Given the description of an element on the screen output the (x, y) to click on. 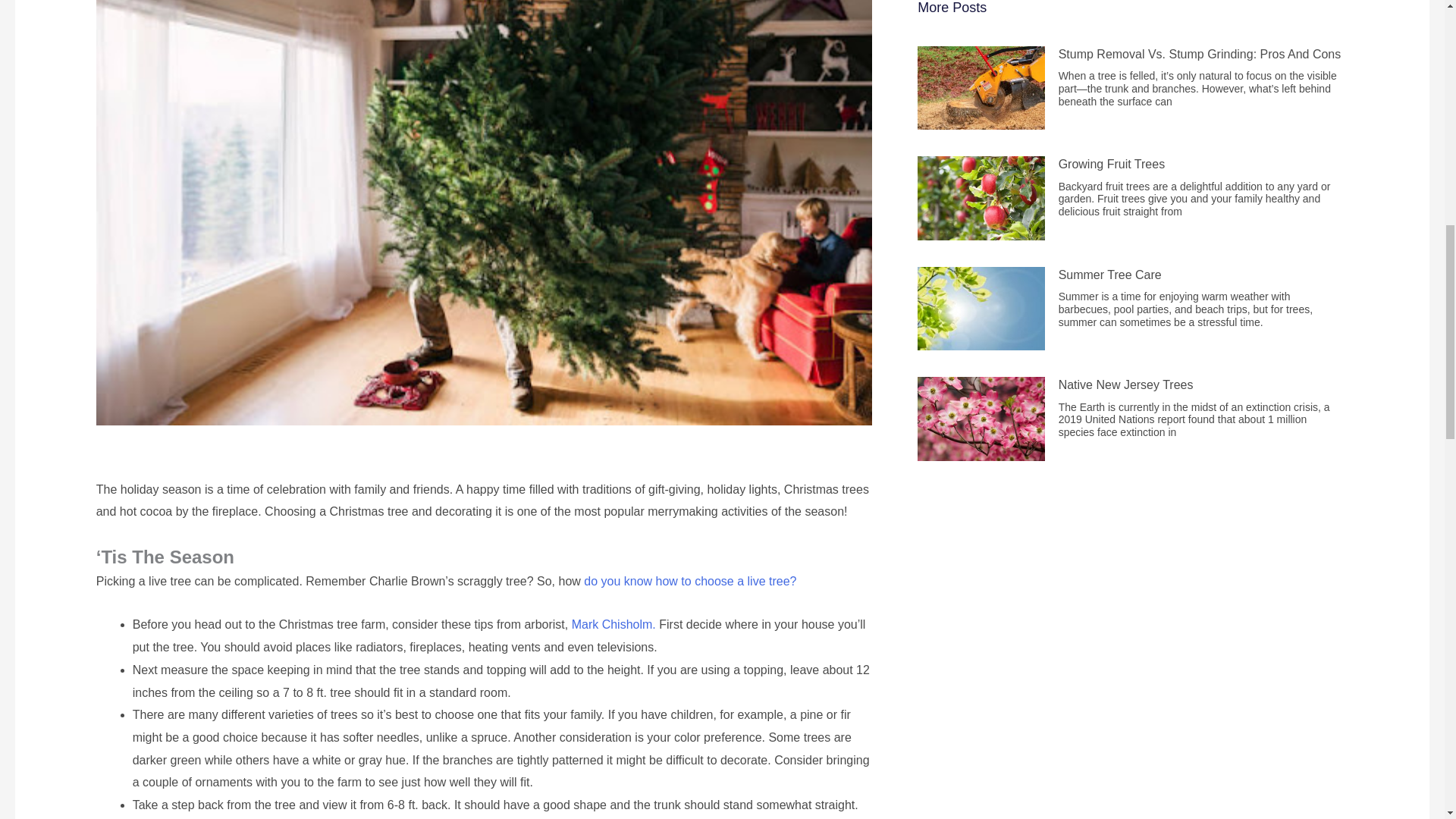
Stump Removal Vs. Stump Grinding: Pros And Cons (1199, 53)
do you know how to choose a live tree? (689, 581)
Mark Chisholm. (614, 624)
Growing Fruit Trees (1111, 164)
Summer Tree Care (1109, 274)
Native New Jersey Trees (1125, 384)
